Given the description of an element on the screen output the (x, y) to click on. 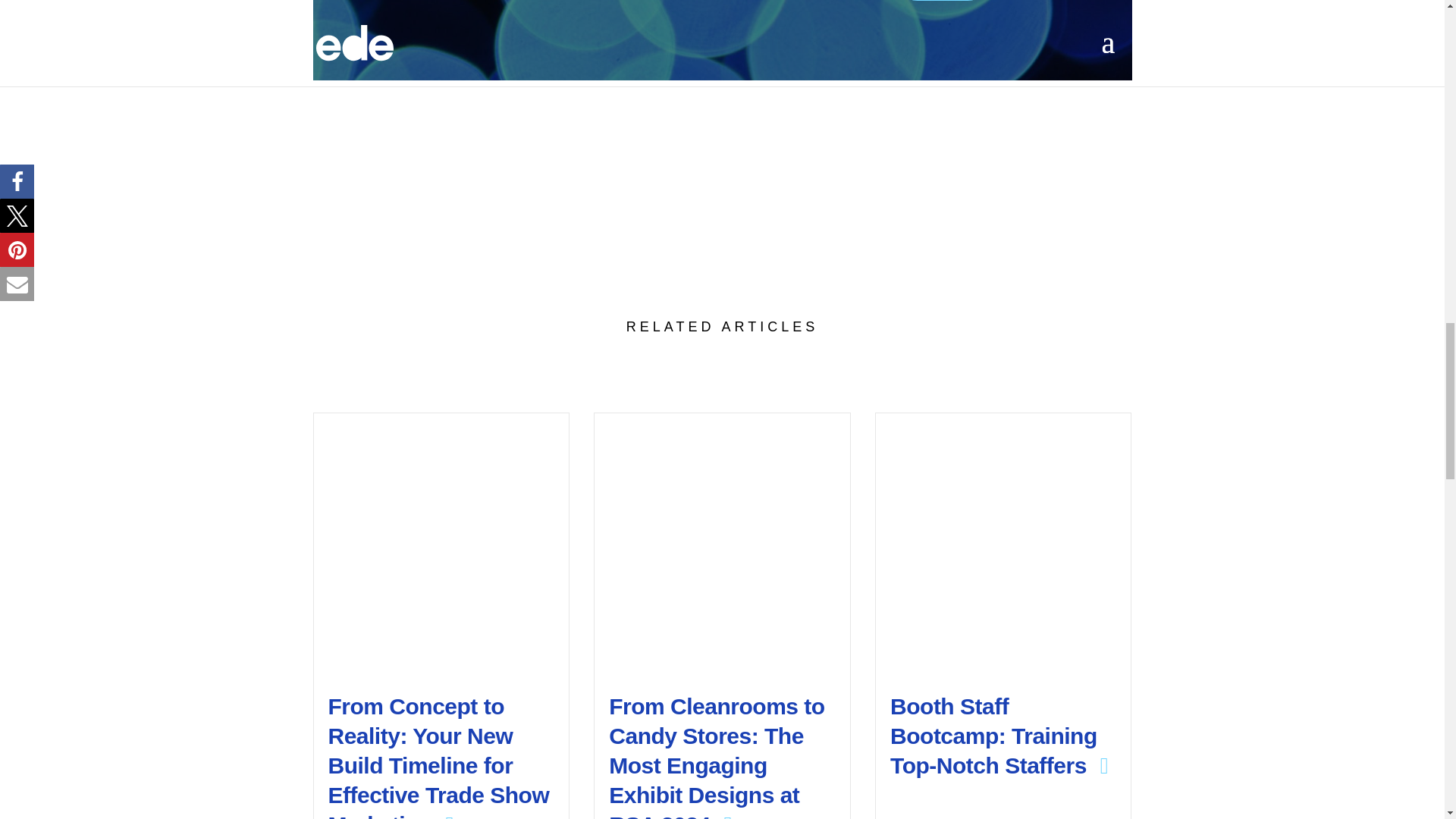
Booth Staff Bootcamp: Training Top-Notch Staffers (998, 735)
